Given the description of an element on the screen output the (x, y) to click on. 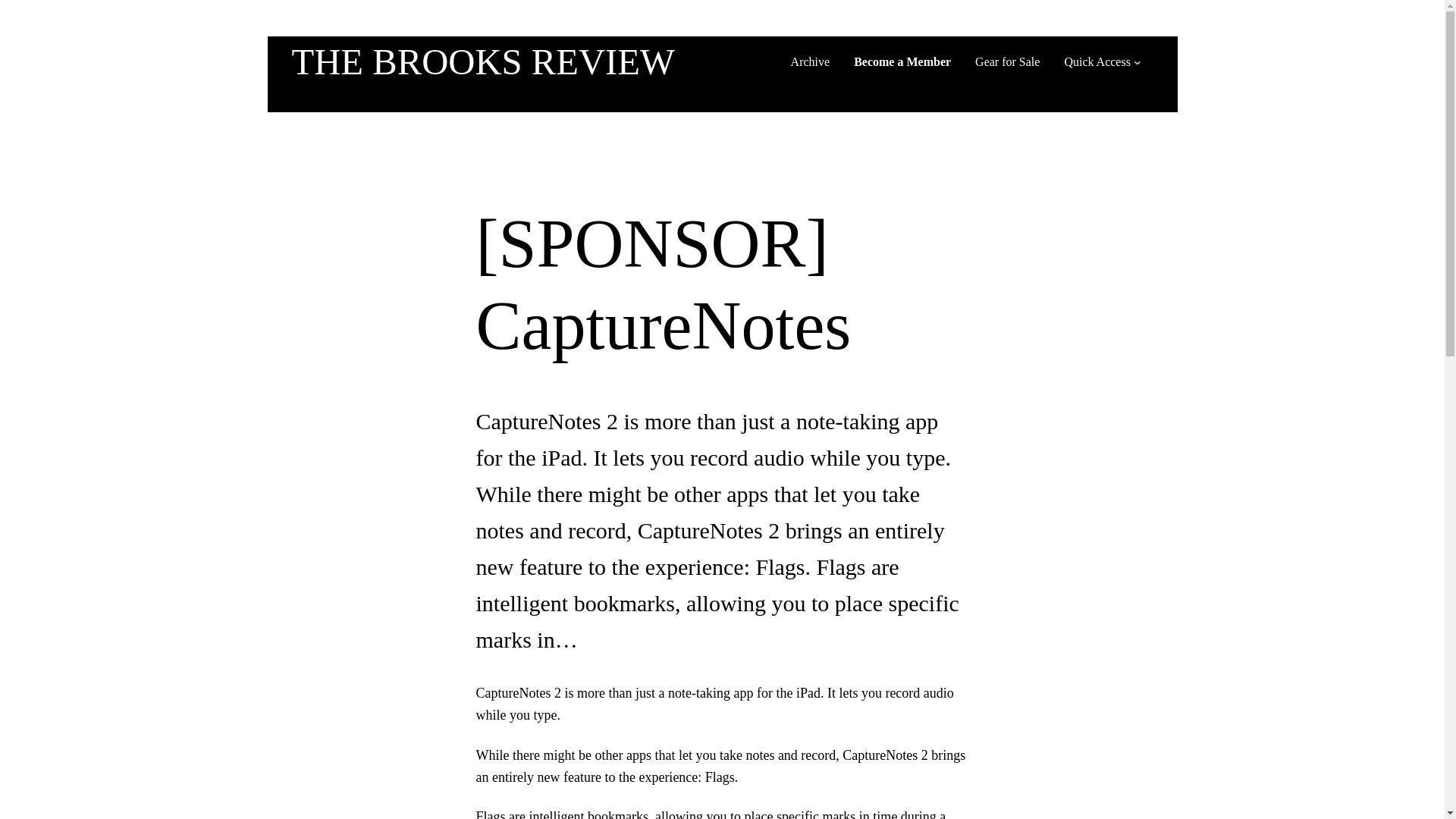
Become a Member (901, 62)
THE BROOKS REVIEW (482, 61)
Archive (809, 62)
Quick Access (1097, 62)
Gear for Sale (1007, 62)
